Given the description of an element on the screen output the (x, y) to click on. 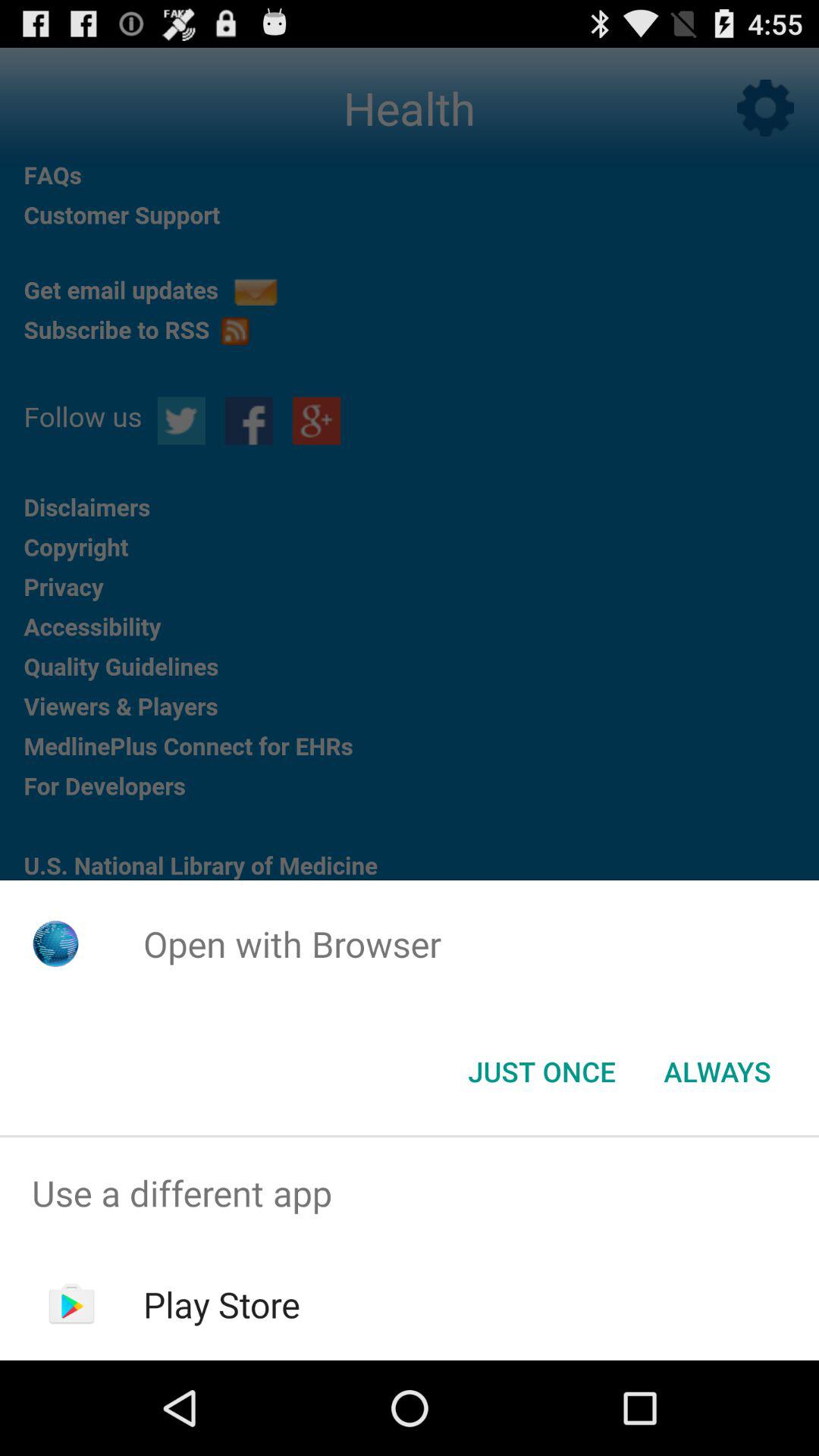
turn on the item above the play store (409, 1192)
